Given the description of an element on the screen output the (x, y) to click on. 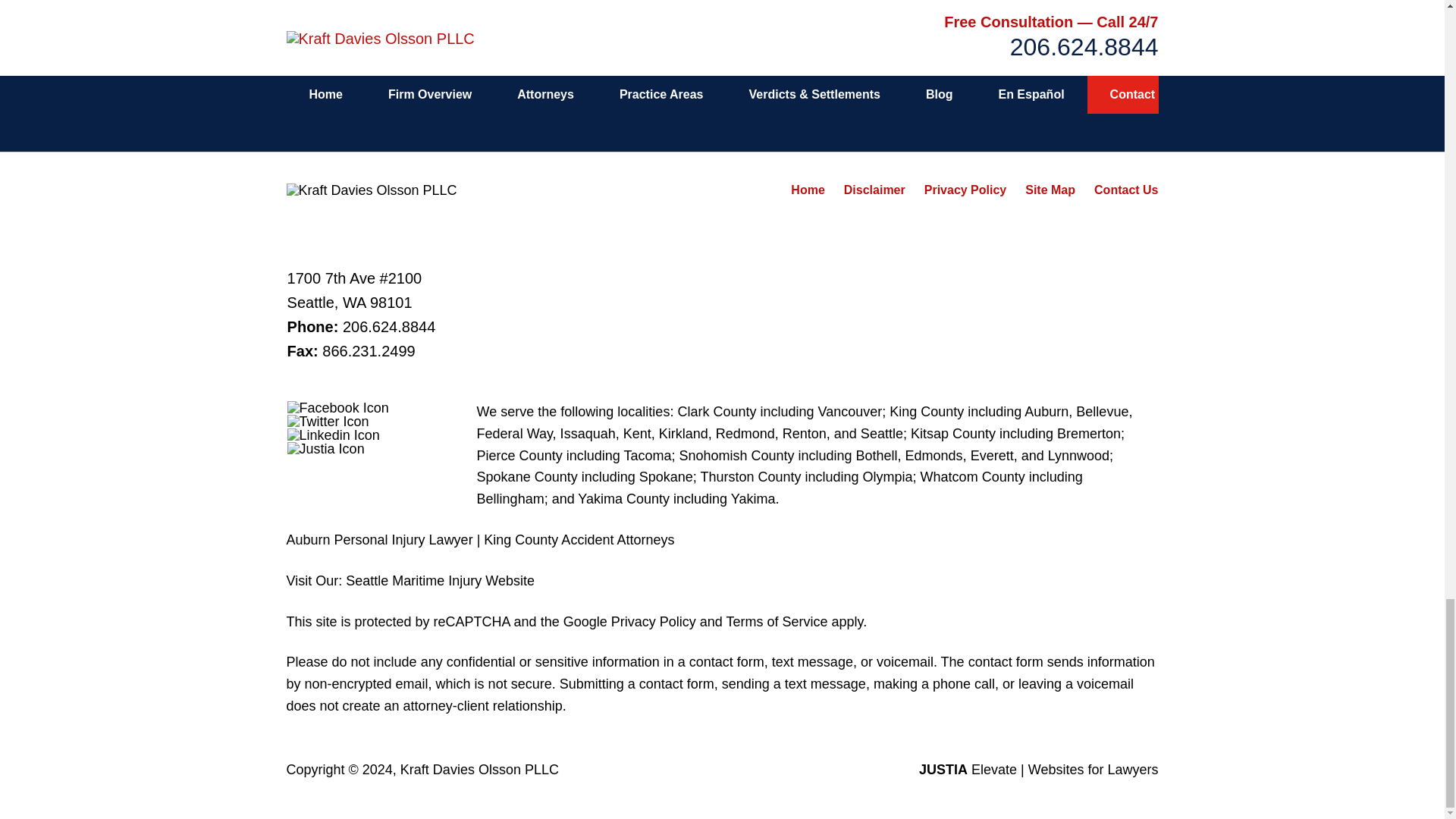
Home (807, 189)
206.624.8844 (388, 326)
Twitter (327, 421)
Contact Us Now (950, 25)
Disclaimer (874, 189)
Justia (325, 448)
Linkedin (333, 435)
Facebook (337, 407)
